Given the description of an element on the screen output the (x, y) to click on. 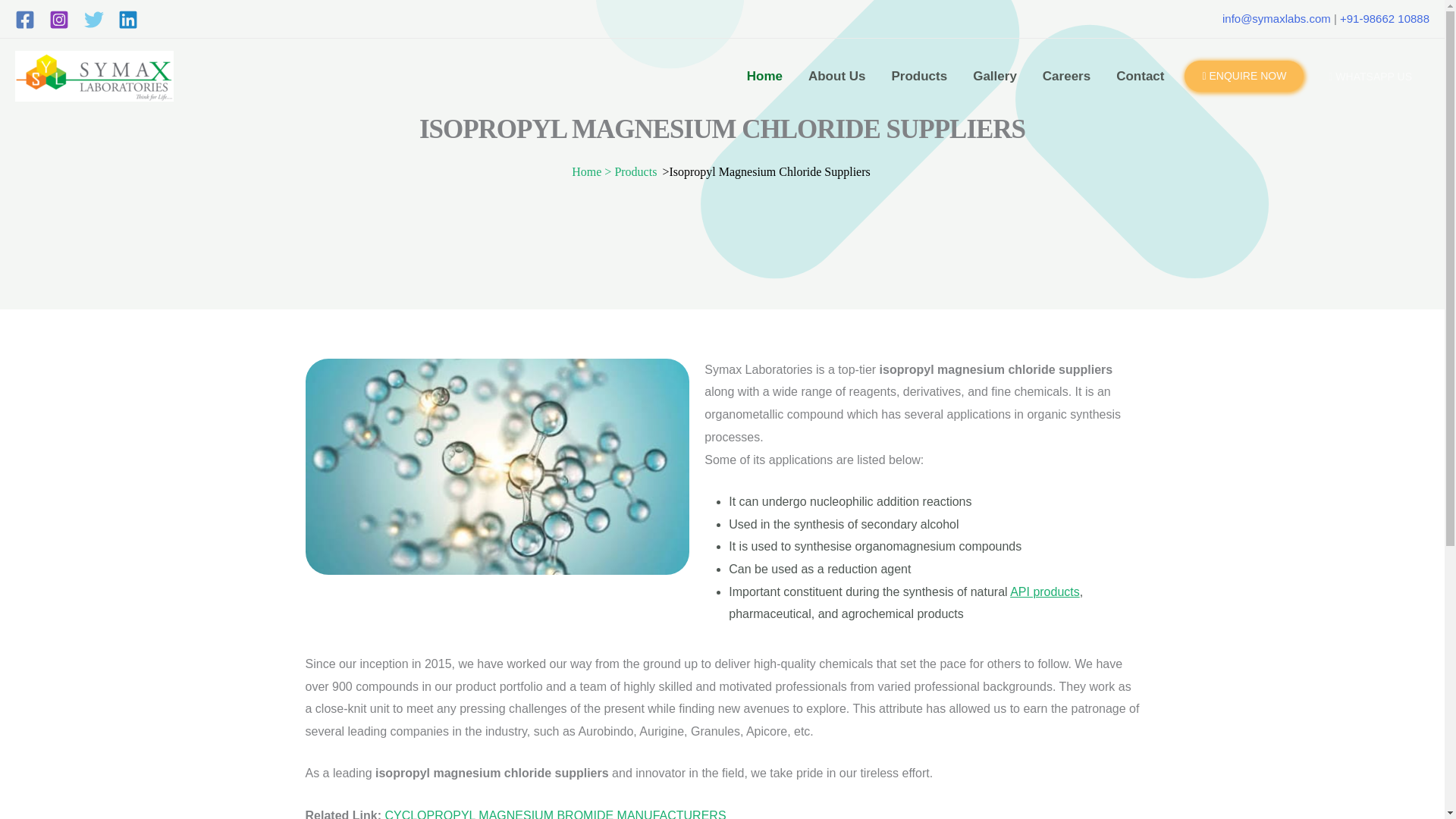
WHATSAPP US (1366, 76)
Careers (1066, 76)
CYCLOPROPYL MAGNESIUM BROMIDE MANUFACTURERS (554, 814)
Home (763, 76)
Gallery (994, 76)
Products (918, 76)
ENQUIRE NOW (1244, 75)
About Us (836, 76)
Contact (1139, 76)
Products (635, 171)
